Given the description of an element on the screen output the (x, y) to click on. 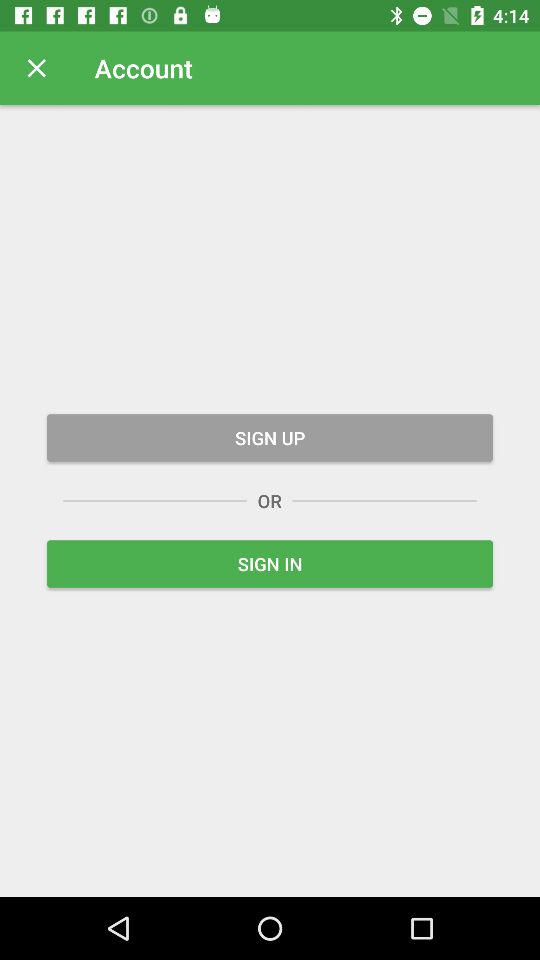
turn off the item above or item (269, 437)
